Given the description of an element on the screen output the (x, y) to click on. 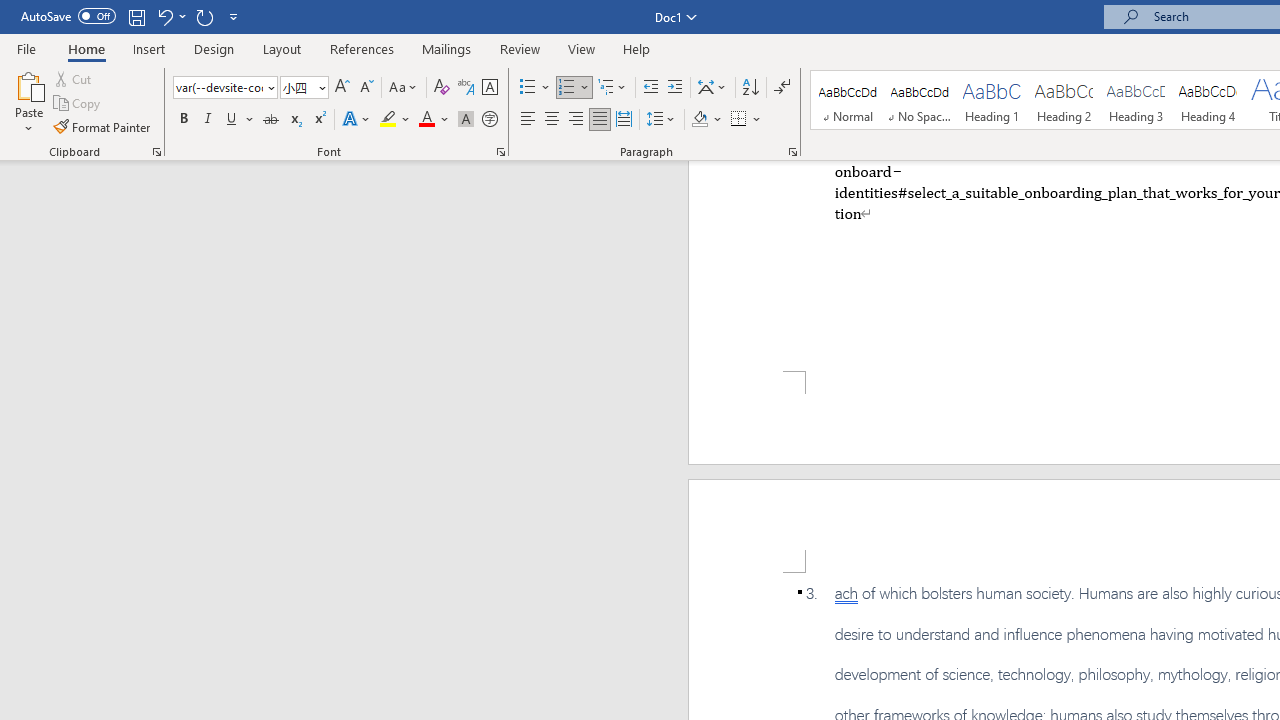
Design (214, 48)
Grow Font (342, 87)
Underline (232, 119)
Repeat Style (204, 15)
Strikethrough (270, 119)
Underline (239, 119)
Increase Indent (675, 87)
Change Case (404, 87)
Borders (739, 119)
Font Color Automatic (426, 119)
Italic (207, 119)
Customize Quick Access Toolbar (234, 15)
Paragraph... (792, 151)
Text Highlight Color (395, 119)
